Given the description of an element on the screen output the (x, y) to click on. 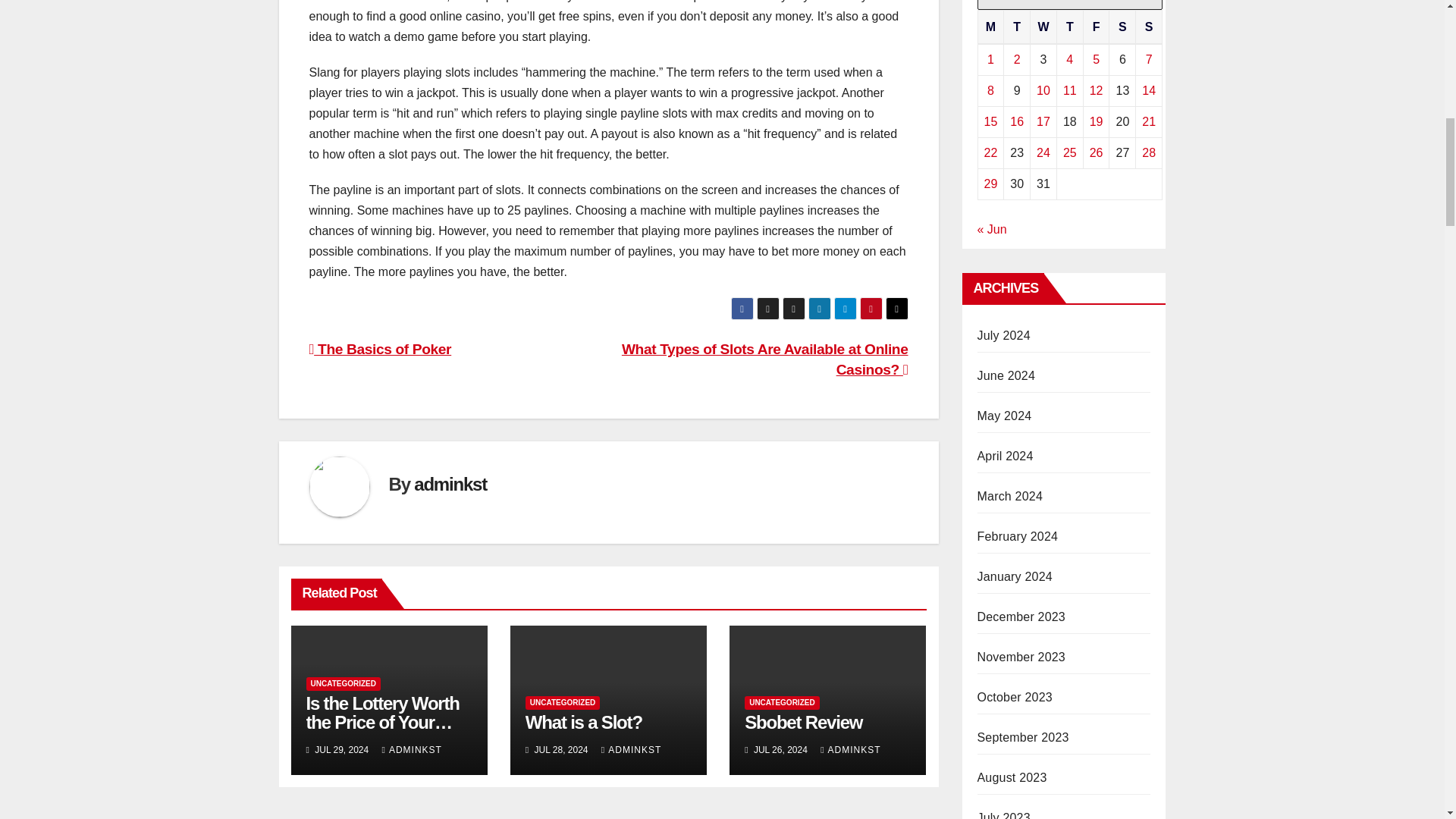
adminkst (449, 484)
What is a Slot? (583, 721)
Sbobet Review (802, 721)
Permalink to: What is a Slot? (583, 721)
Permalink to: Is the Lottery Worth the Price of Your Money? (382, 721)
UNCATEGORIZED (342, 684)
The Basics of Poker (379, 349)
ADMINKST (850, 749)
Is the Lottery Worth the Price of Your Money? (382, 721)
UNCATEGORIZED (562, 703)
What Types of Slots Are Available at Online Casinos? (764, 359)
ADMINKST (631, 749)
Permalink to: Sbobet Review (802, 721)
UNCATEGORIZED (781, 703)
ADMINKST (411, 749)
